Given the description of an element on the screen output the (x, y) to click on. 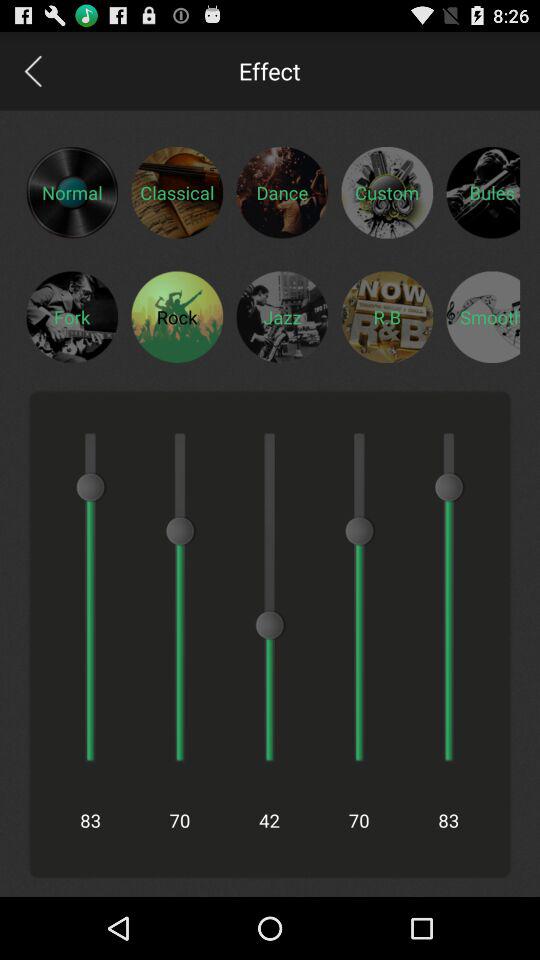
custom (387, 191)
